Given the description of an element on the screen output the (x, y) to click on. 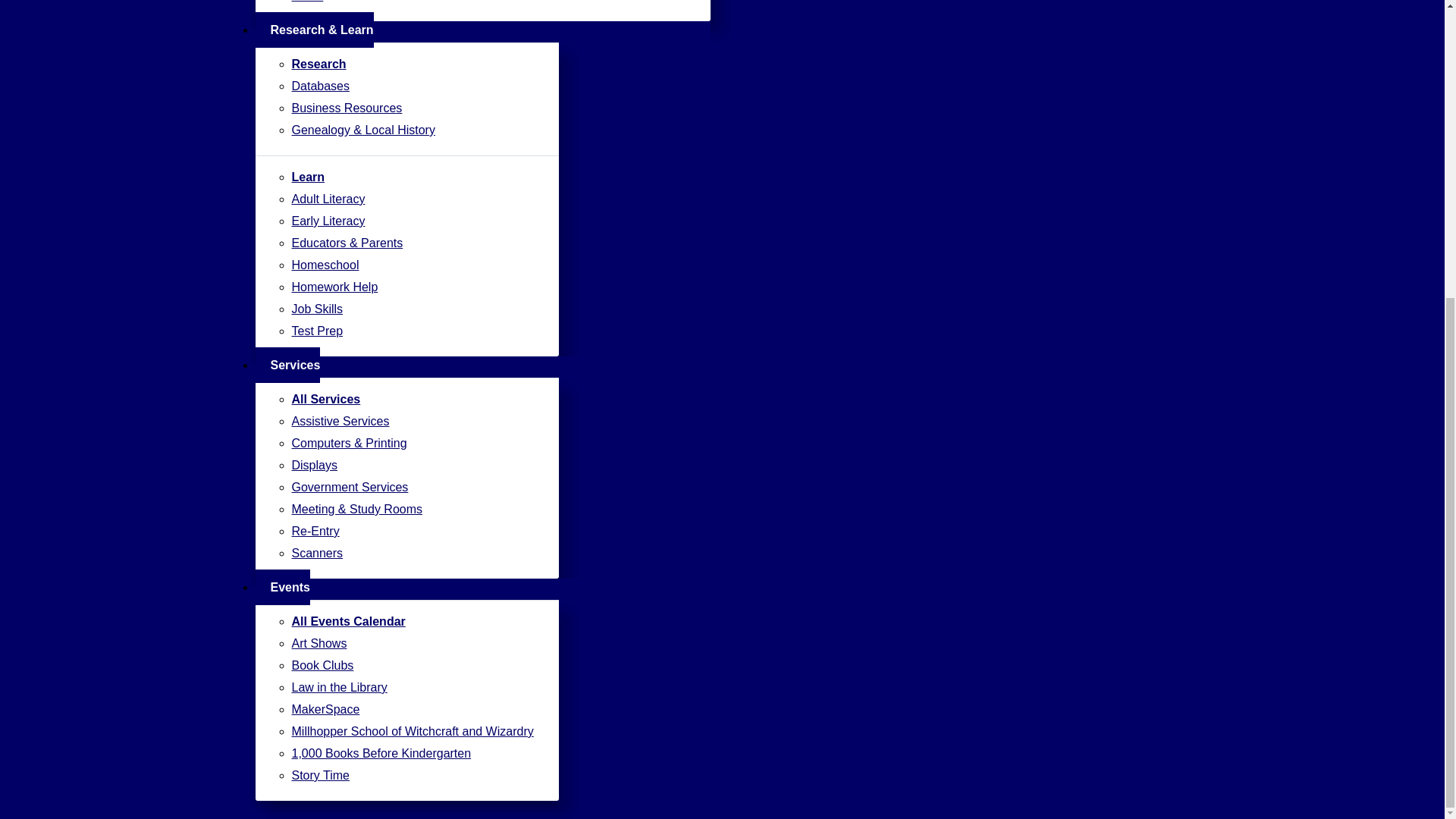
View all our events. (412, 621)
All Services (412, 399)
Homeschool (412, 265)
Business Resources (412, 108)
Databases (412, 85)
Join us for stories and songs. (412, 775)
Toggle submenu (261, 375)
Research (412, 64)
View Law in the Library events. (412, 687)
Test Prep (412, 331)
